Given the description of an element on the screen output the (x, y) to click on. 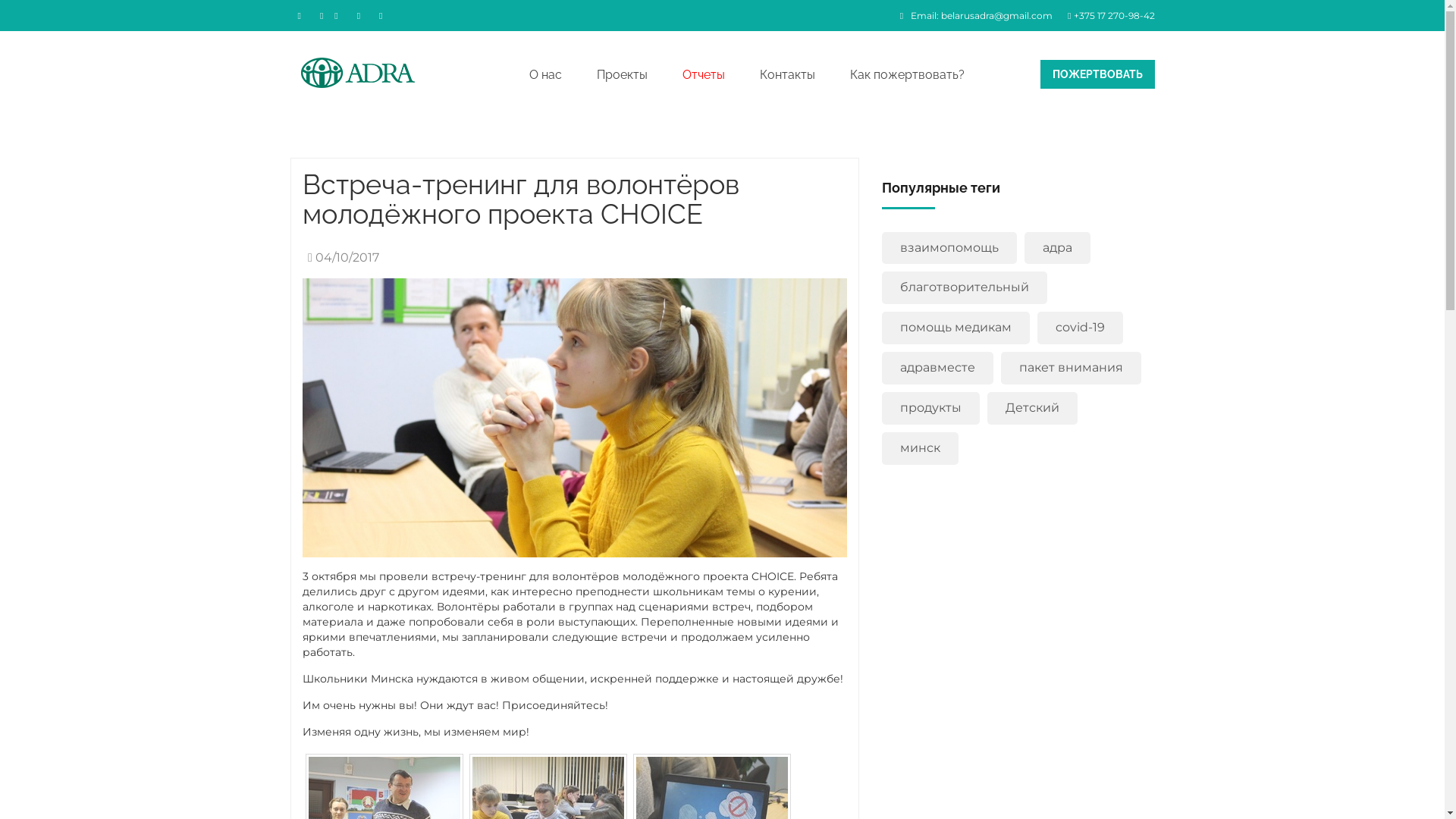
Email: belarusadra@gmail.com Element type: text (976, 15)
+375 17 270-98-42 Element type: text (1107, 15)
04/10/2017 Element type: text (339, 257)
covid-19 Element type: text (1080, 327)
